Given the description of an element on the screen output the (x, y) to click on. 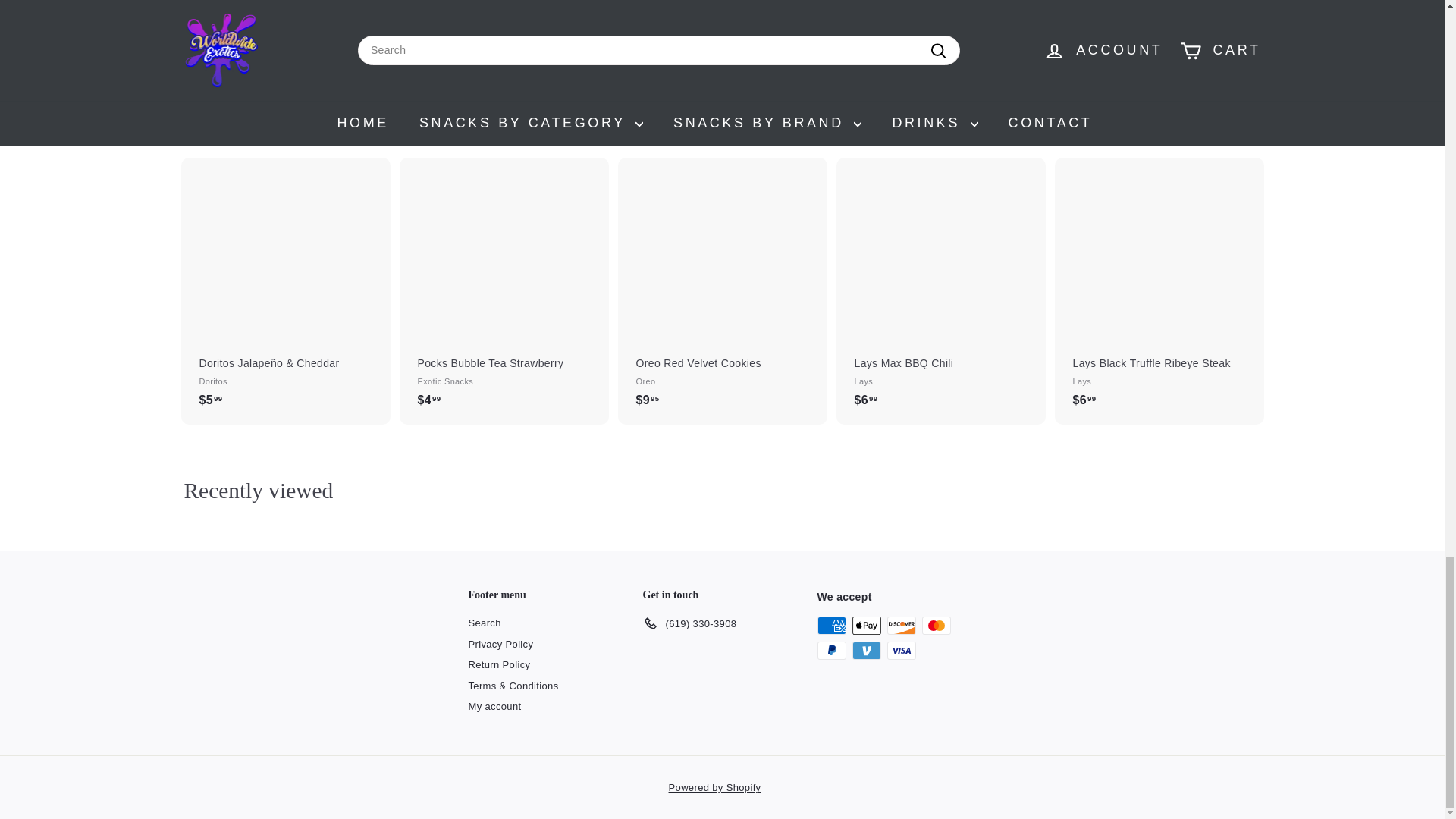
Discover (900, 625)
Venmo (865, 650)
Mastercard (935, 625)
PayPal (830, 650)
Visa (900, 650)
American Express (830, 625)
Apple Pay (865, 625)
